Given the description of an element on the screen output the (x, y) to click on. 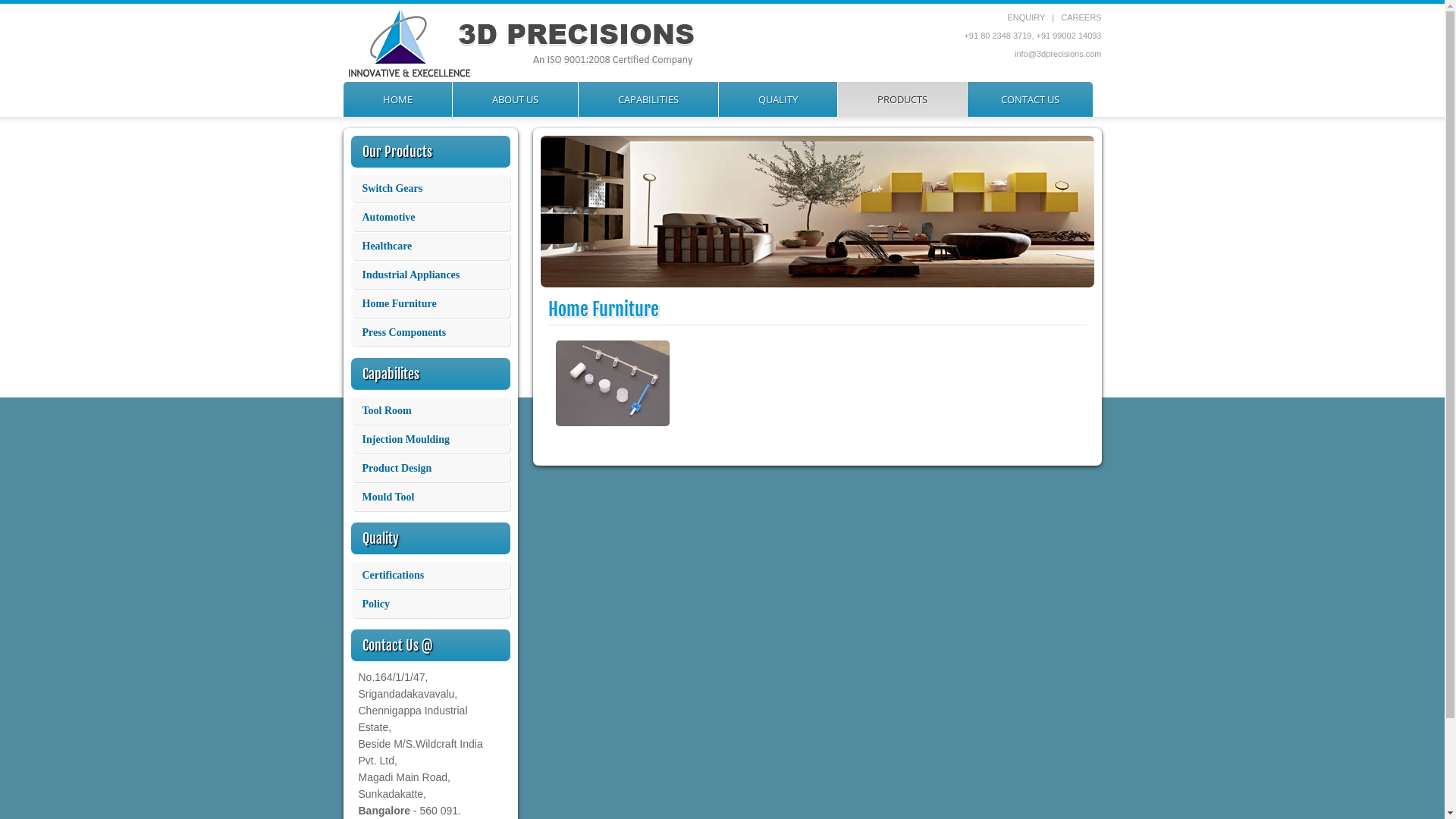
QUALITY Element type: text (777, 98)
Certifications Element type: text (429, 575)
info@3dprecisions.com Element type: text (1057, 53)
Home Furnitures Element type: hover (611, 429)
ENQUIRY Element type: text (1054, 21)
Automotive Element type: text (429, 217)
Switch Gears Element type: text (429, 188)
CAPABILITIES Element type: text (647, 98)
CONTACT US Element type: text (1029, 98)
Mould Tool Element type: text (429, 497)
Injection Moulding Element type: text (429, 439)
ABOUT US Element type: text (514, 98)
PRODUCTS Element type: text (901, 98)
Policy Element type: text (429, 604)
CAREERS Element type: text (1080, 16)
Healthcare Element type: text (429, 246)
Product Design Element type: text (429, 468)
HOME Element type: text (396, 98)
Home Furniture Element type: text (429, 303)
Tool Room Element type: text (429, 410)
Press Components Element type: text (429, 332)
Industrial Appliances Element type: text (429, 274)
